Given the description of an element on the screen output the (x, y) to click on. 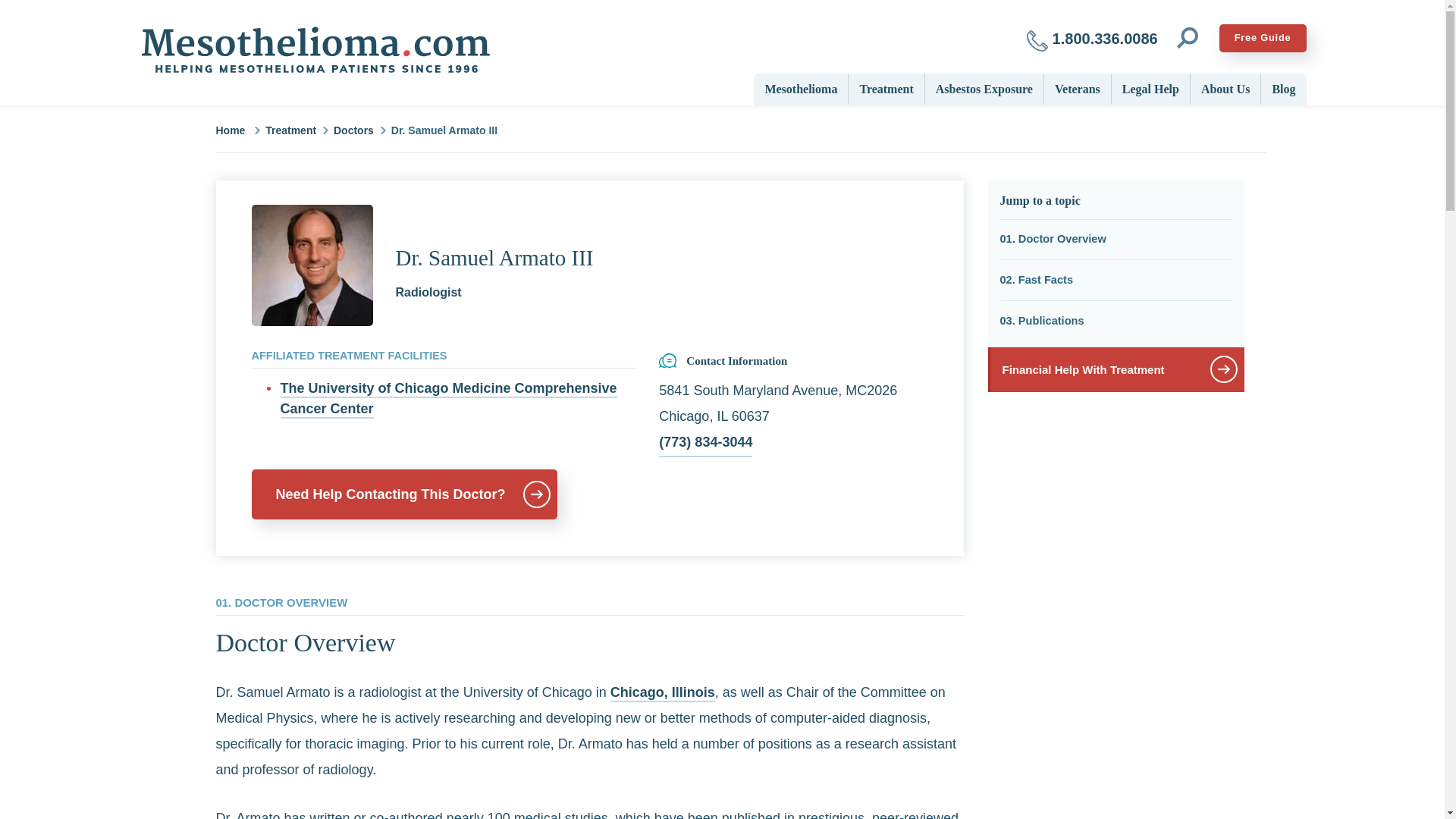
Mesothelioma (800, 88)
Home (314, 49)
Asbestos Exposure (983, 88)
Treatment (885, 88)
1.800.336.0086 (1091, 38)
Free Guide (1263, 38)
